Given the description of an element on the screen output the (x, y) to click on. 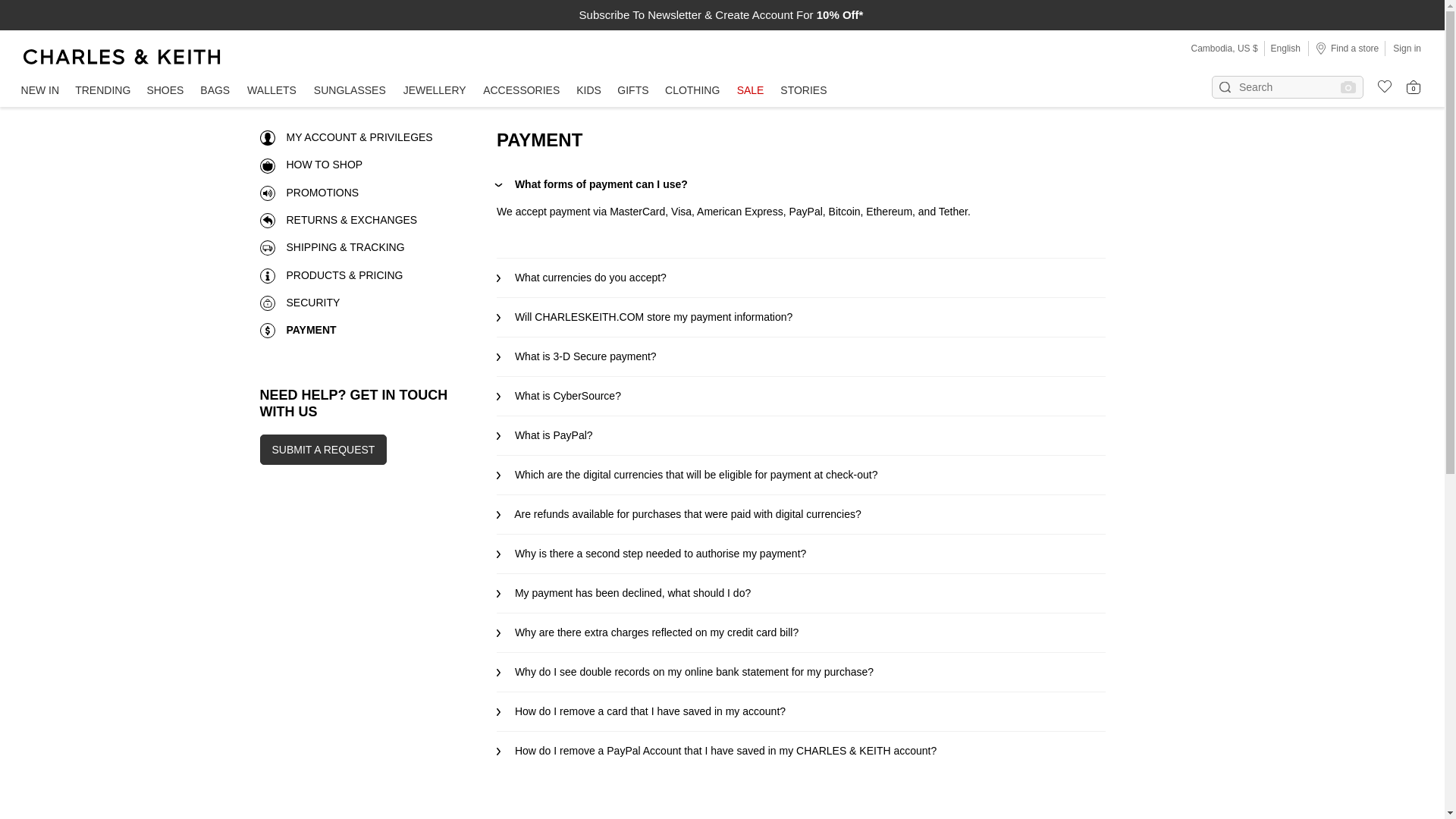
View Cart (1413, 87)
Find a store (1346, 48)
WALLETS (271, 91)
STORIES (803, 91)
NEW IN (39, 91)
ACCESSORIES (520, 91)
SHOES (165, 91)
CLOTHING (692, 91)
KIDS (588, 91)
Sign in (1407, 48)
